Given the description of an element on the screen output the (x, y) to click on. 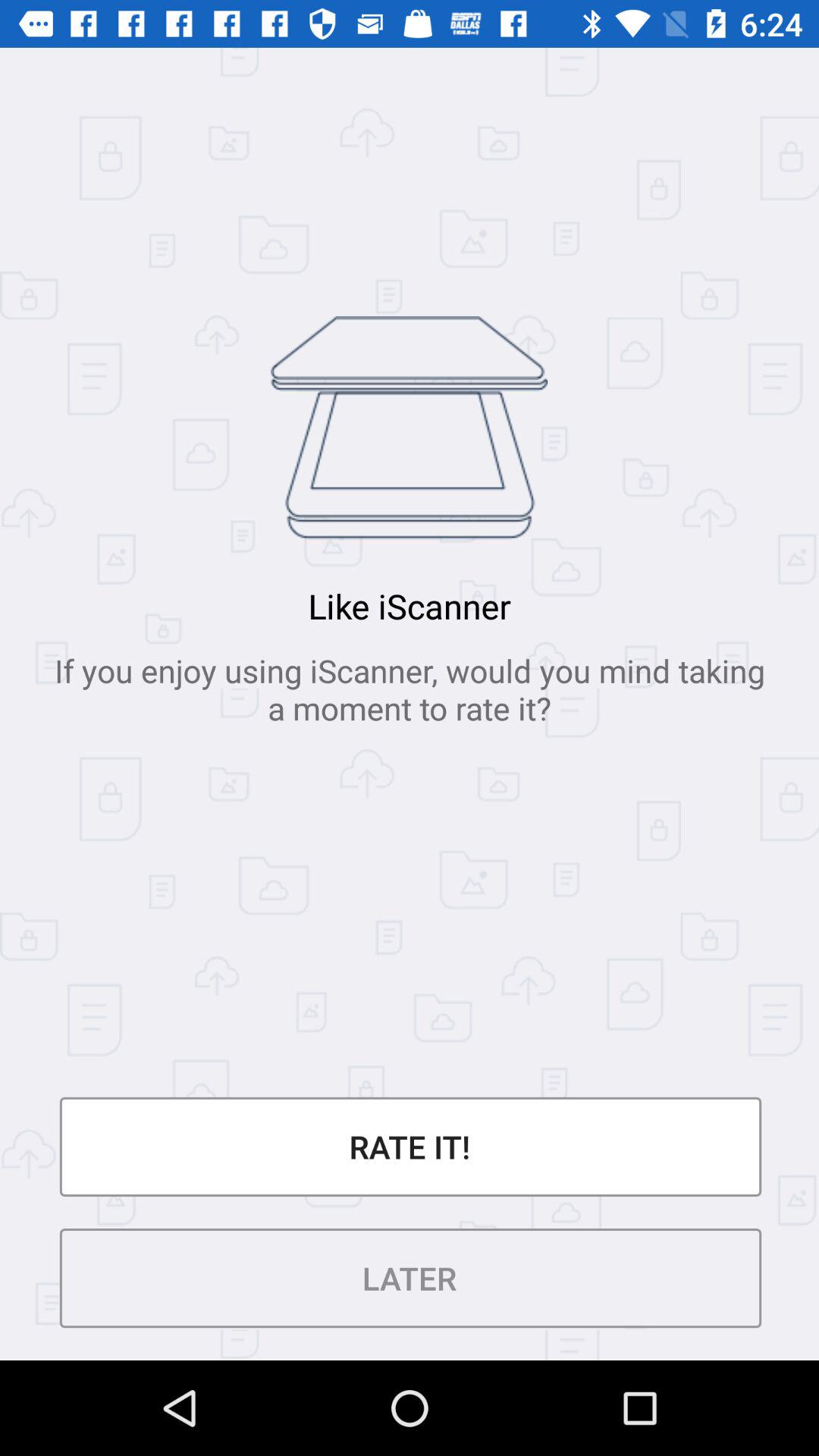
swipe until the later (409, 1278)
